Given the description of an element on the screen output the (x, y) to click on. 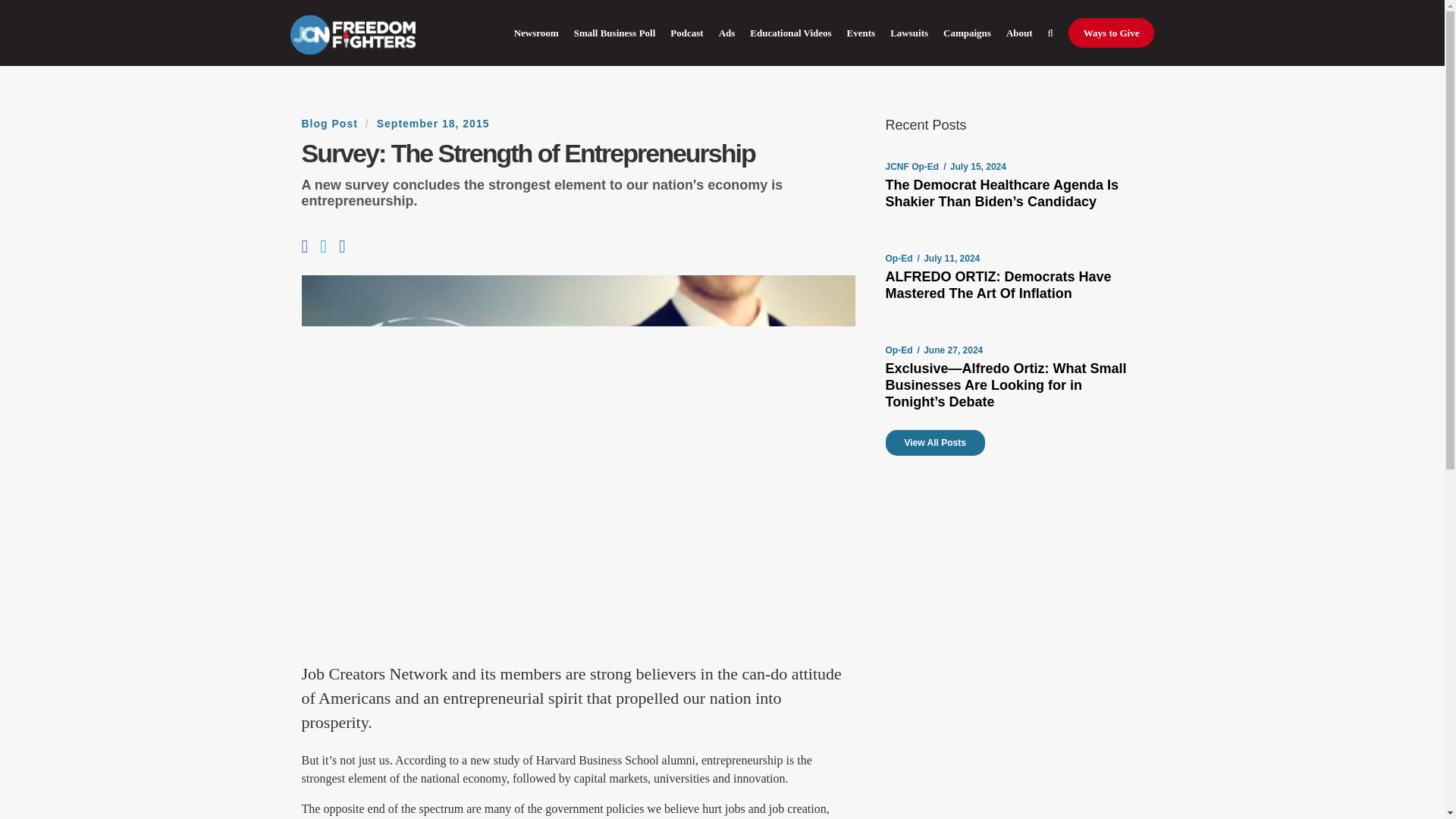
Podcast (686, 33)
About (1019, 33)
Small Business Poll (614, 33)
Campaigns (967, 33)
Events (861, 33)
Educational Videos (790, 33)
Ads (726, 33)
Newsroom (536, 33)
Lawsuits (909, 33)
Ways to Give (1111, 33)
